Given the description of an element on the screen output the (x, y) to click on. 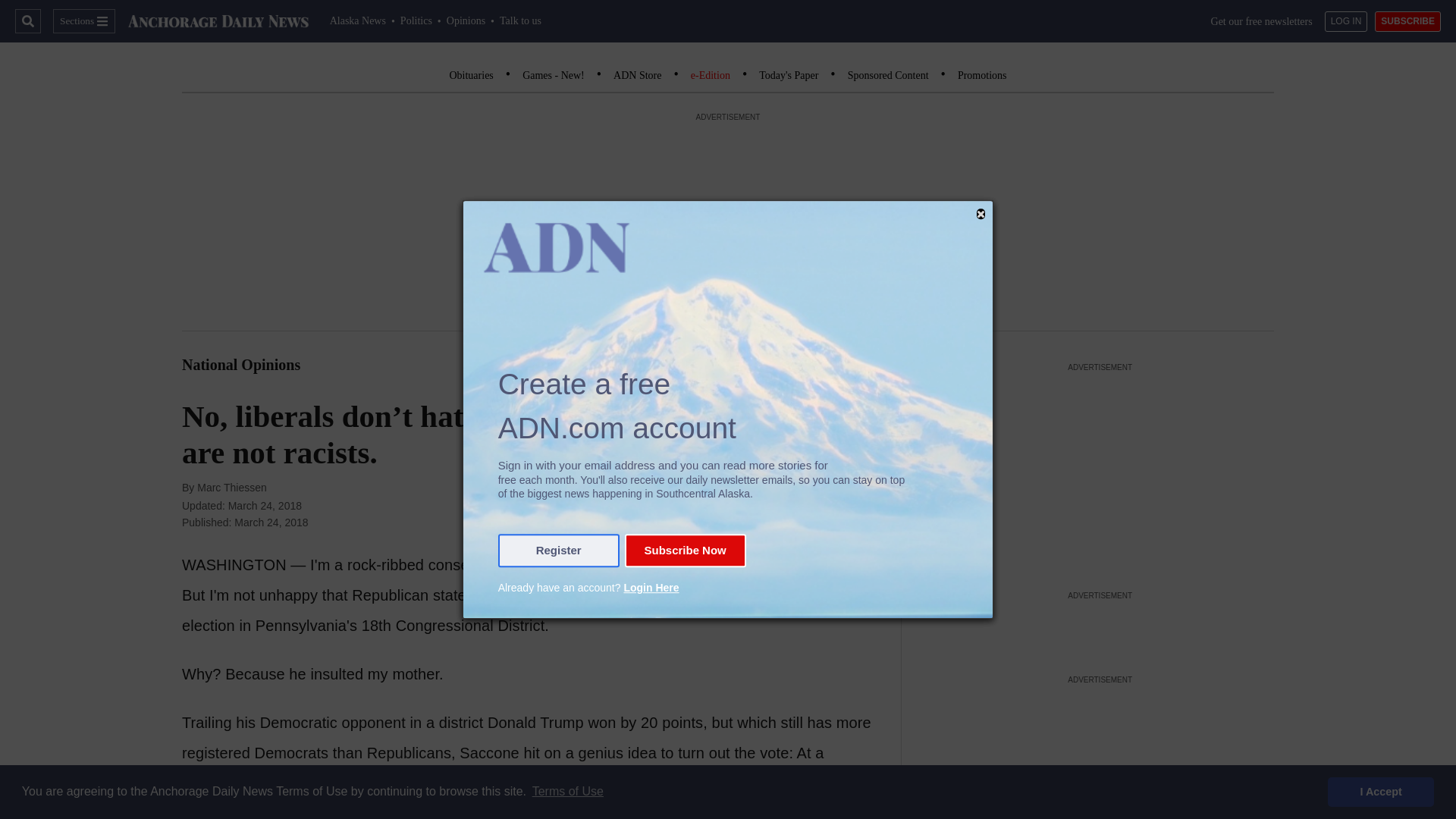
Get our free newsletters (1262, 21)
Alaska News (357, 20)
Politics (416, 20)
Subscribe Now (684, 549)
3rd party ad content (1100, 753)
Opinions (465, 20)
3rd party ad content (1100, 627)
I Accept (1380, 791)
Sections (83, 21)
Terms of Use (567, 791)
ADN Logo (218, 20)
SUBSCRIBE (1407, 20)
LOG IN (1346, 20)
3rd party ad content (1100, 470)
